Given the description of an element on the screen output the (x, y) to click on. 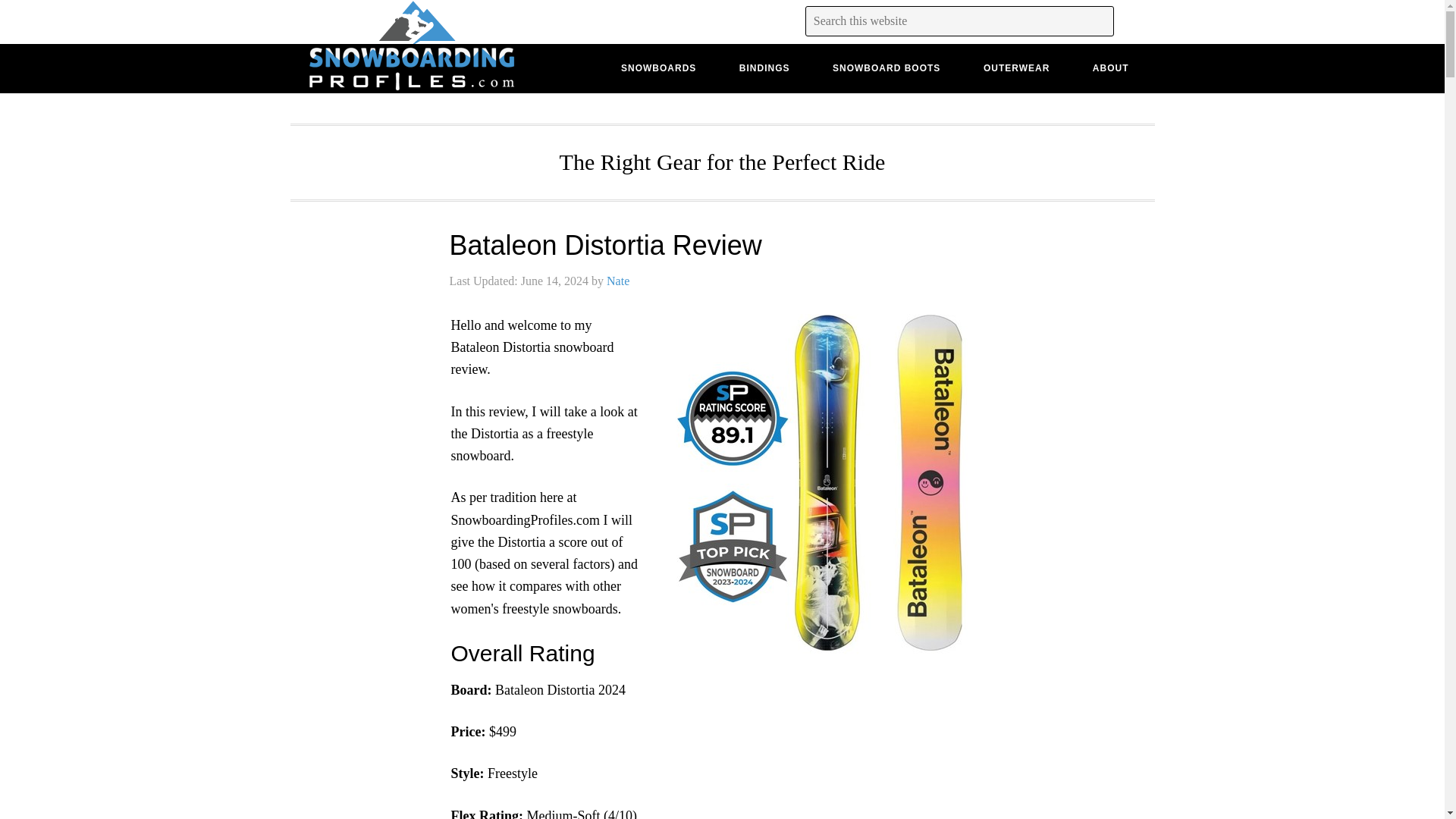
ABOUT (1110, 67)
OUTERWEAR (1015, 67)
SNOWBOARD BOOTS (885, 67)
Nate (617, 280)
Search (42, 18)
SNOWBOARDING PROFILES (410, 68)
SNOWBOARDS (658, 67)
BINDINGS (764, 67)
